Given the description of an element on the screen output the (x, y) to click on. 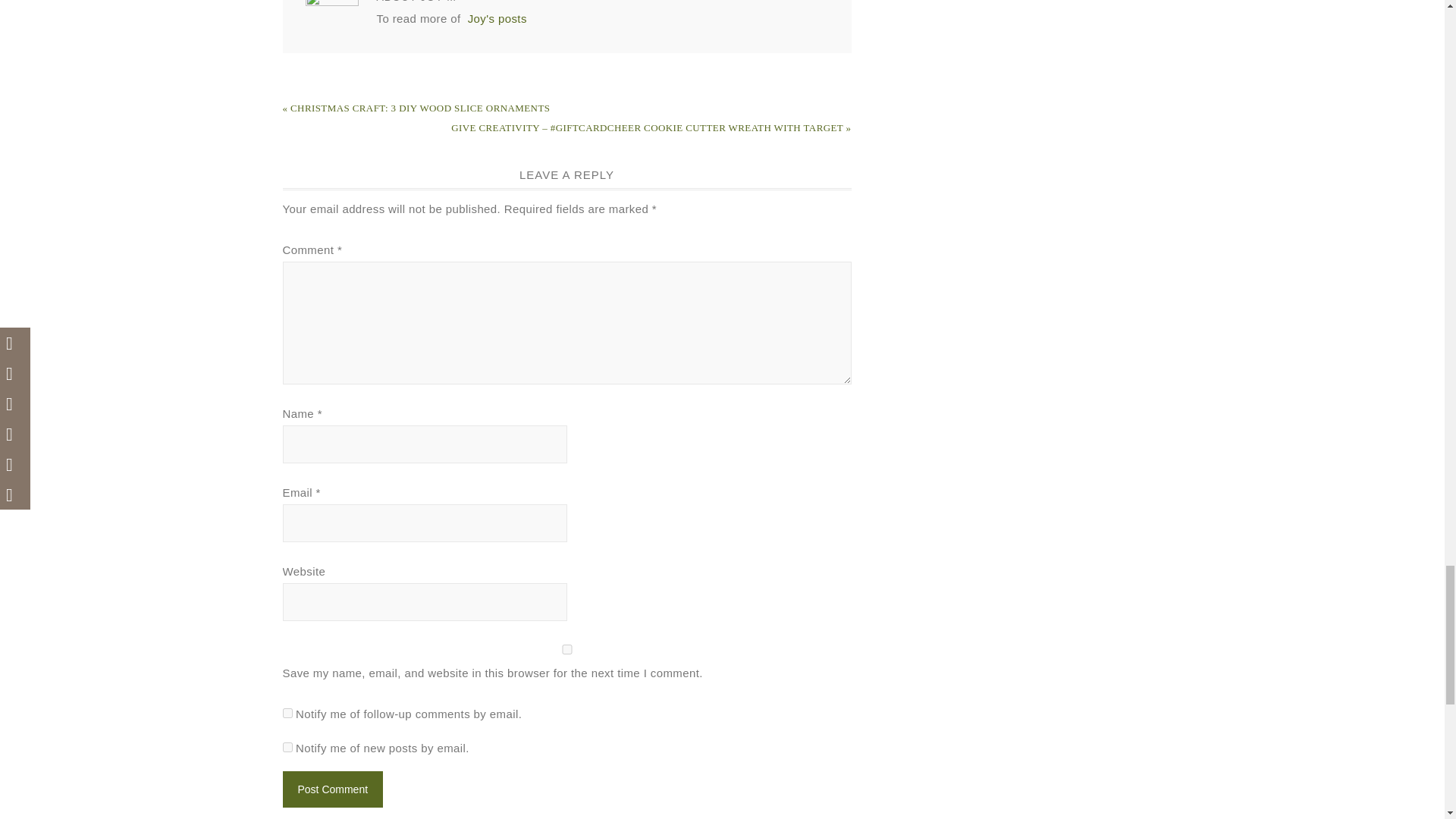
Post Comment (332, 788)
yes (566, 649)
subscribe (287, 746)
subscribe (287, 713)
